Given the description of an element on the screen output the (x, y) to click on. 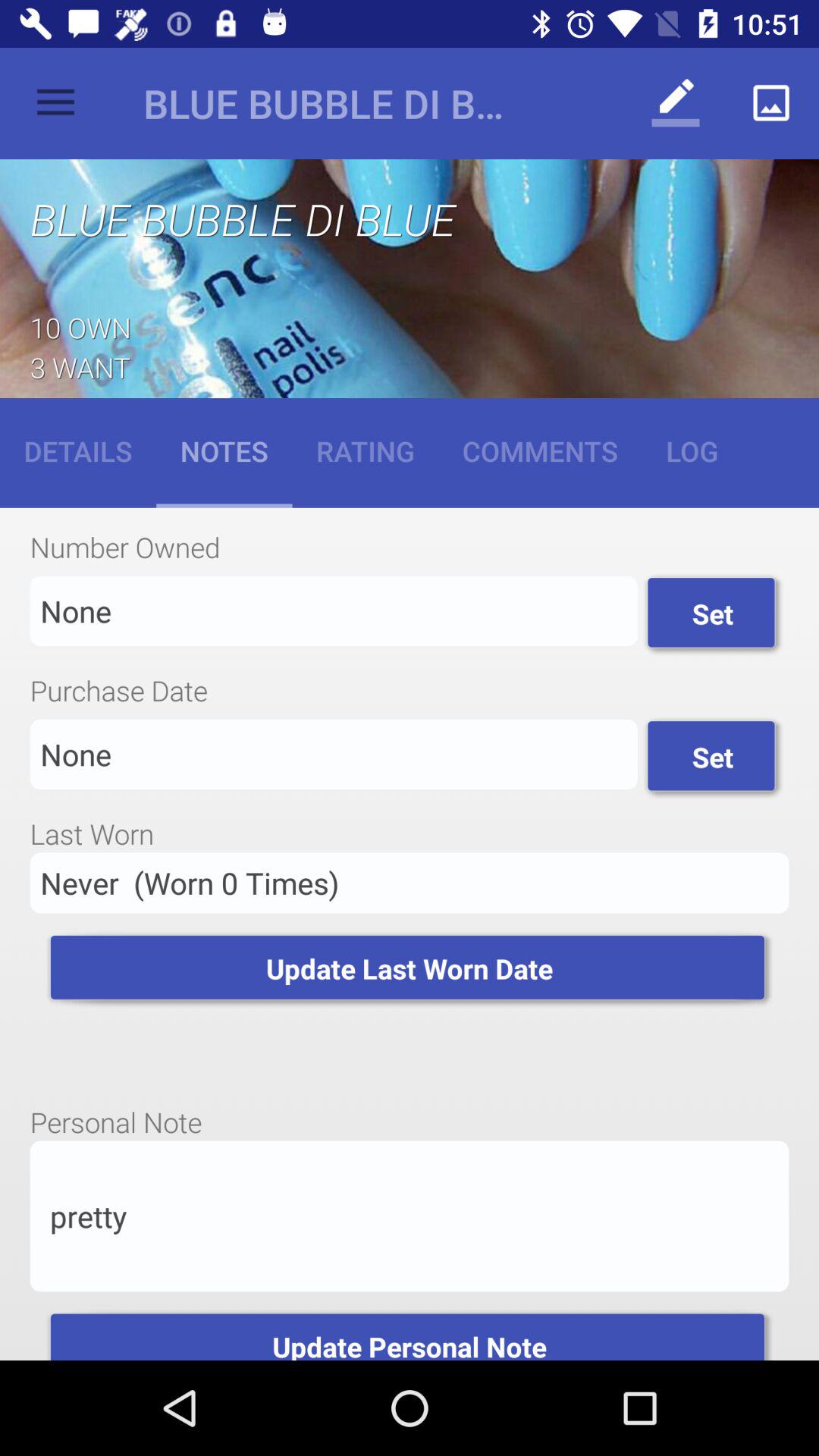
click the icon to the right of the notes (365, 450)
